Given the description of an element on the screen output the (x, y) to click on. 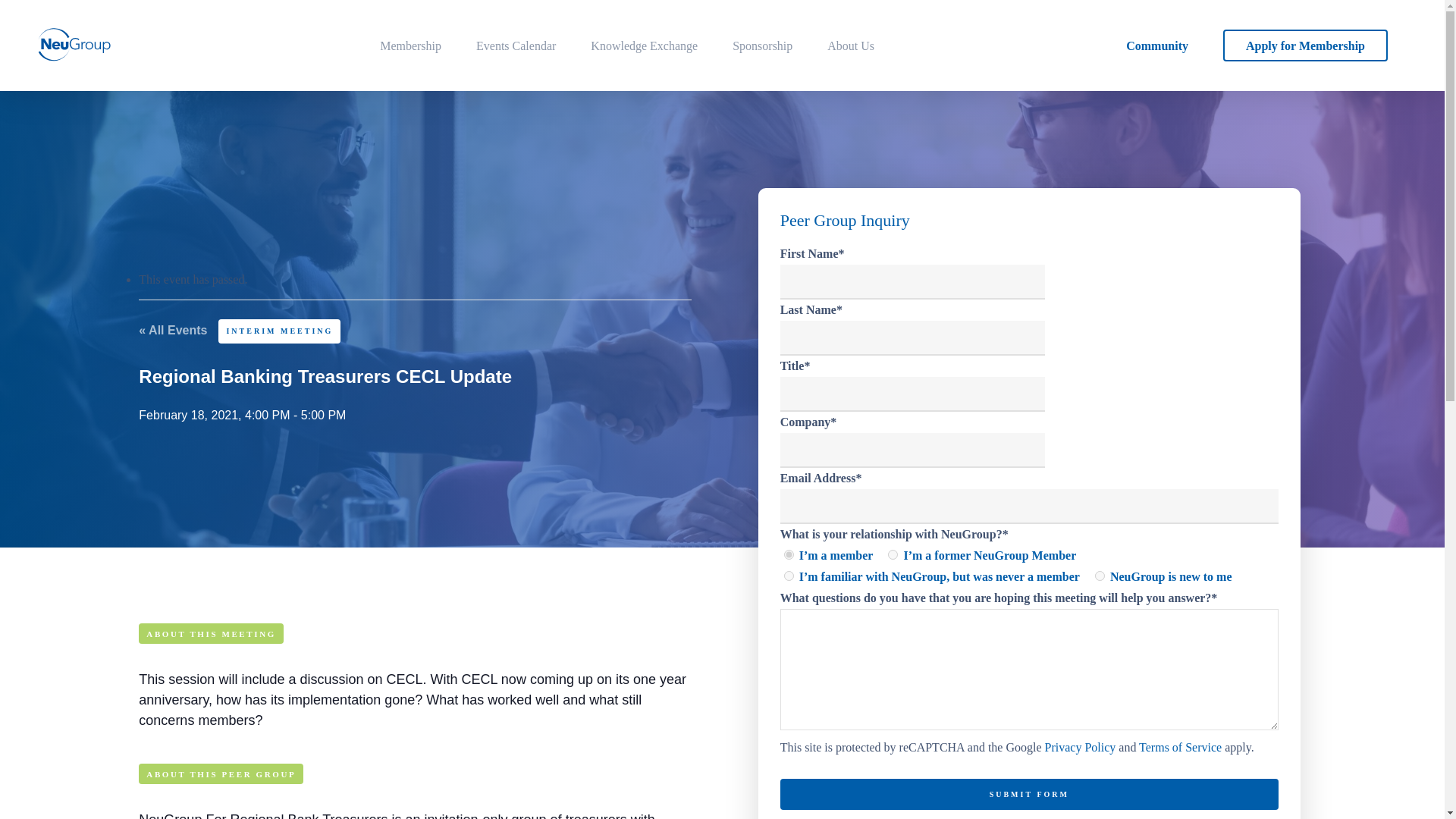
NeuGroup is new to me (1099, 575)
Submit Form (1029, 793)
Apply for Membership (1305, 45)
Terms of Service (1179, 747)
Knowledge Exchange (644, 45)
INTERIM MEETING (279, 331)
Sponsorship (762, 45)
Submit Form (1029, 793)
Community (1156, 45)
About Us (851, 45)
Membership (410, 45)
Events Calendar (516, 45)
Privacy Policy (1079, 747)
